Given the description of an element on the screen output the (x, y) to click on. 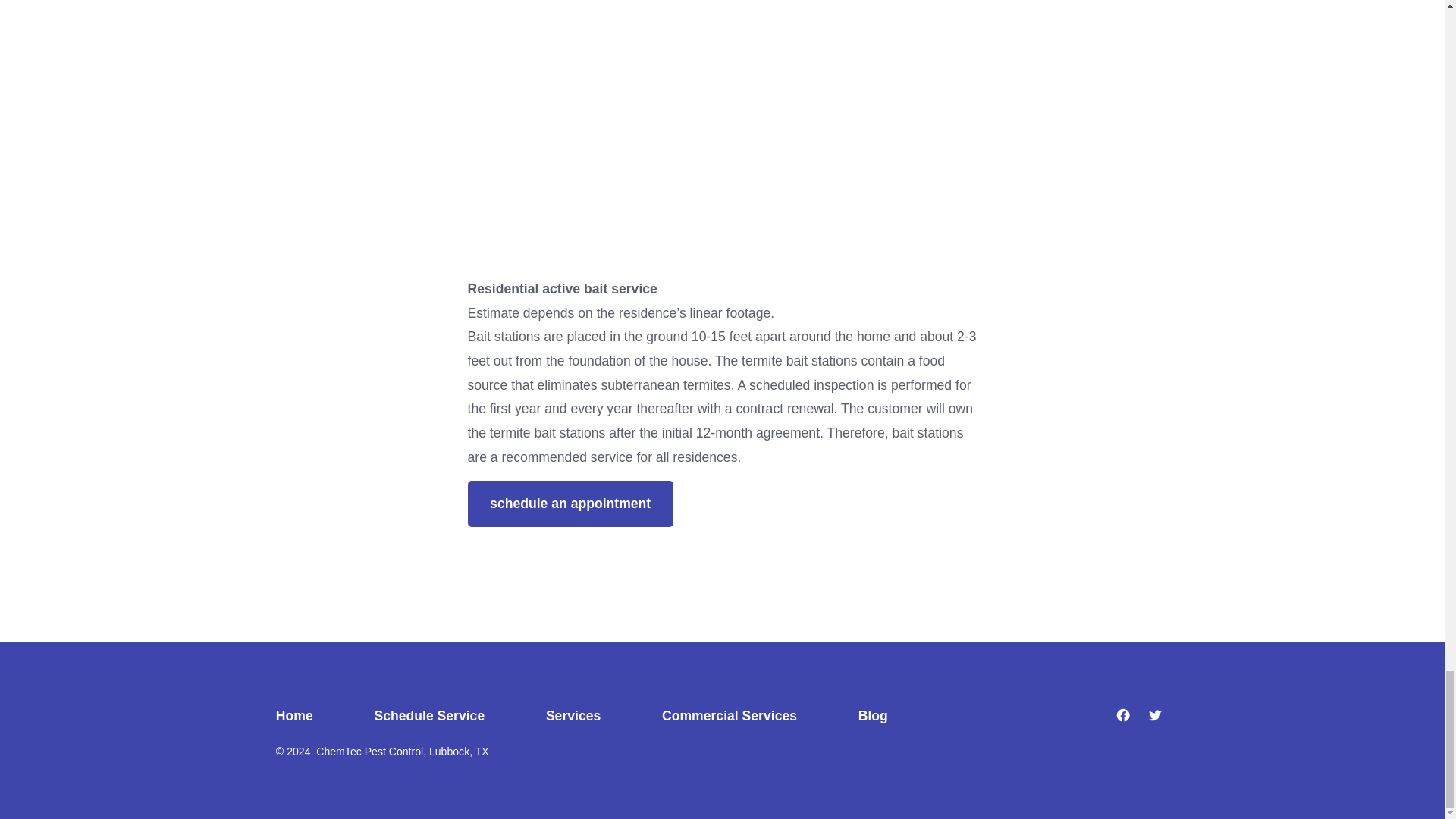
Schedule Service (429, 716)
Open Twitter in a new tab (1155, 714)
Home (309, 716)
Services (572, 716)
Blog (872, 716)
schedule an appointment (569, 503)
Open Facebook in a new tab (1123, 714)
Commercial Services (730, 716)
